Given the description of an element on the screen output the (x, y) to click on. 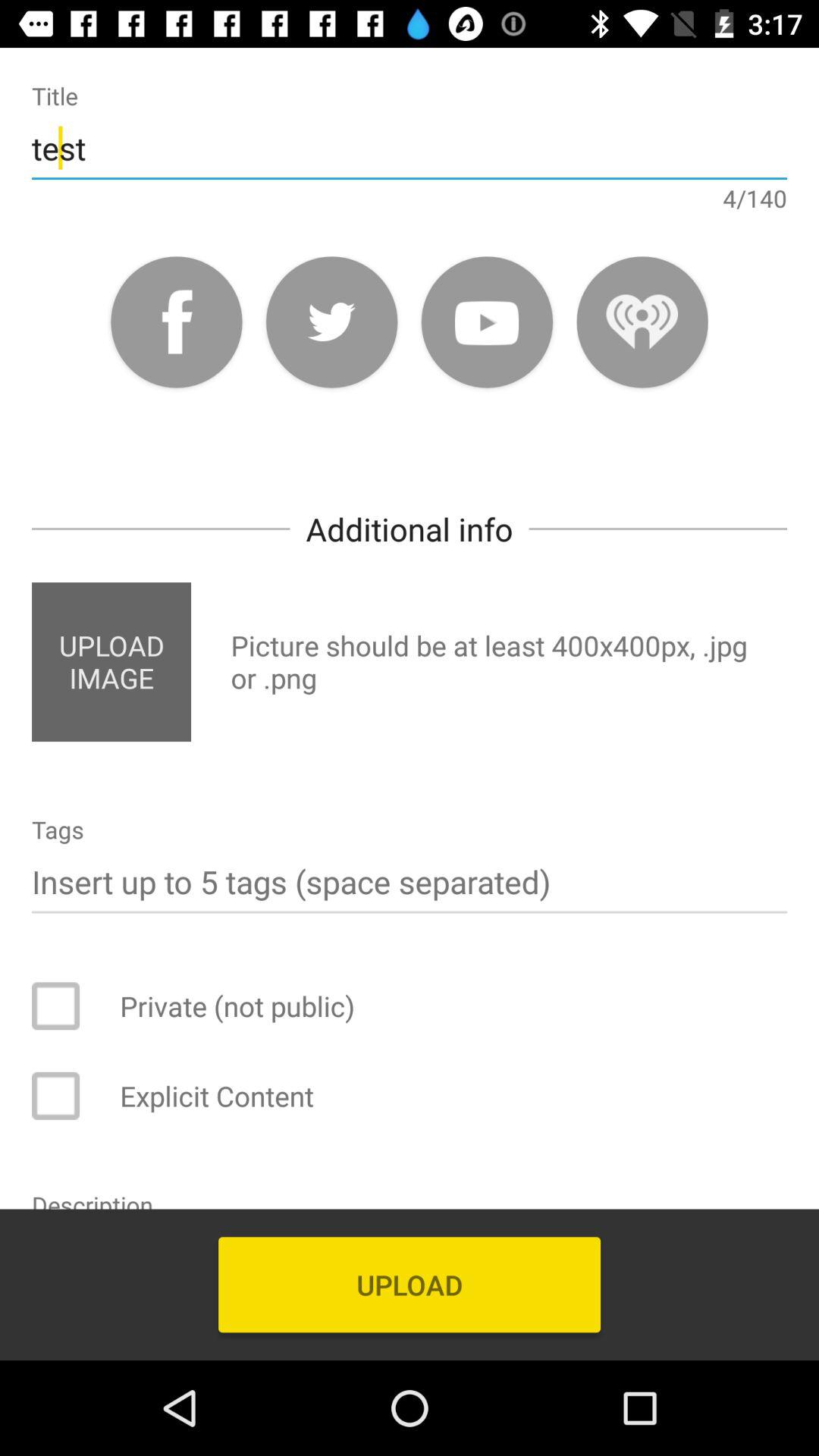
scroll until the test (409, 147)
